Given the description of an element on the screen output the (x, y) to click on. 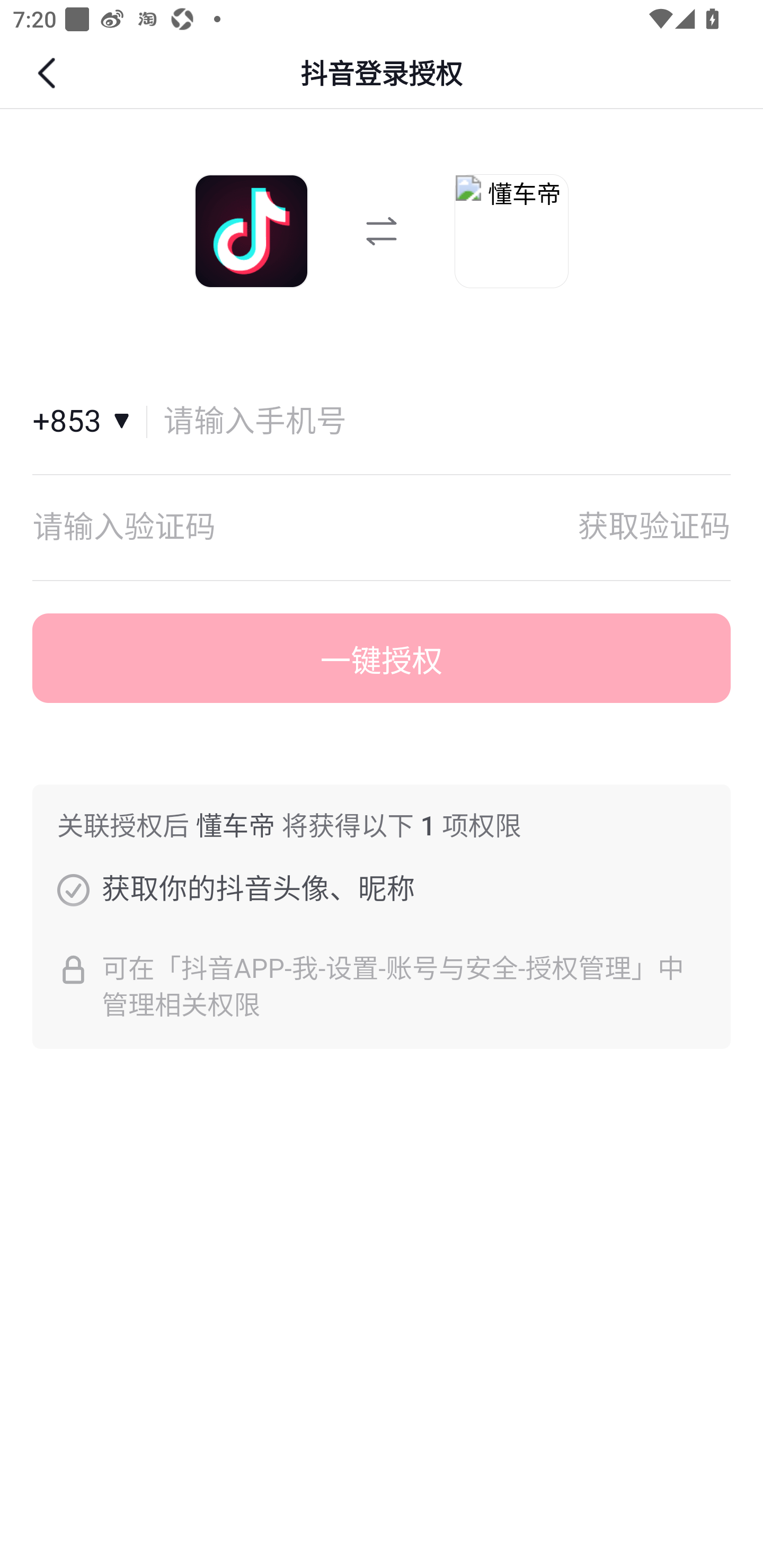
返回 (49, 72)
国家和地区+853 (90, 421)
获取验证码 (653, 526)
一键授权 (381, 658)
获取你的抖音头像、昵称 (72, 889)
